Given the description of an element on the screen output the (x, y) to click on. 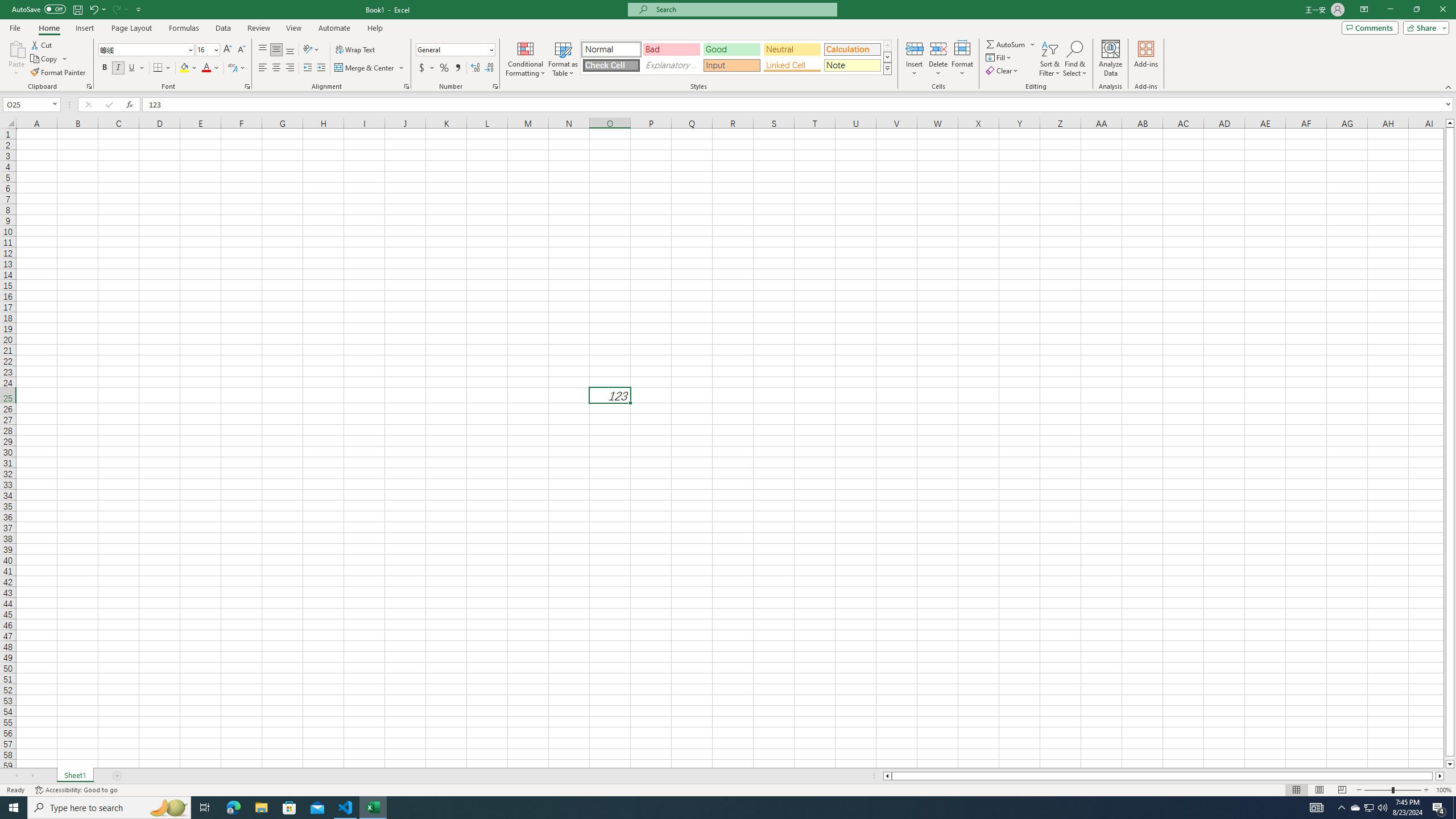
Copy (45, 58)
Middle Align (276, 49)
Accessibility Checker Accessibility: Good to go (76, 790)
Automate (334, 28)
Redo (115, 9)
Check Cell (611, 65)
Name Box (30, 104)
Bad (671, 49)
Redo (119, 9)
Row up (887, 45)
System (6, 6)
Close (1442, 9)
Conditional Formatting (525, 58)
Line up (1449, 122)
Font Size (204, 49)
